Given the description of an element on the screen output the (x, y) to click on. 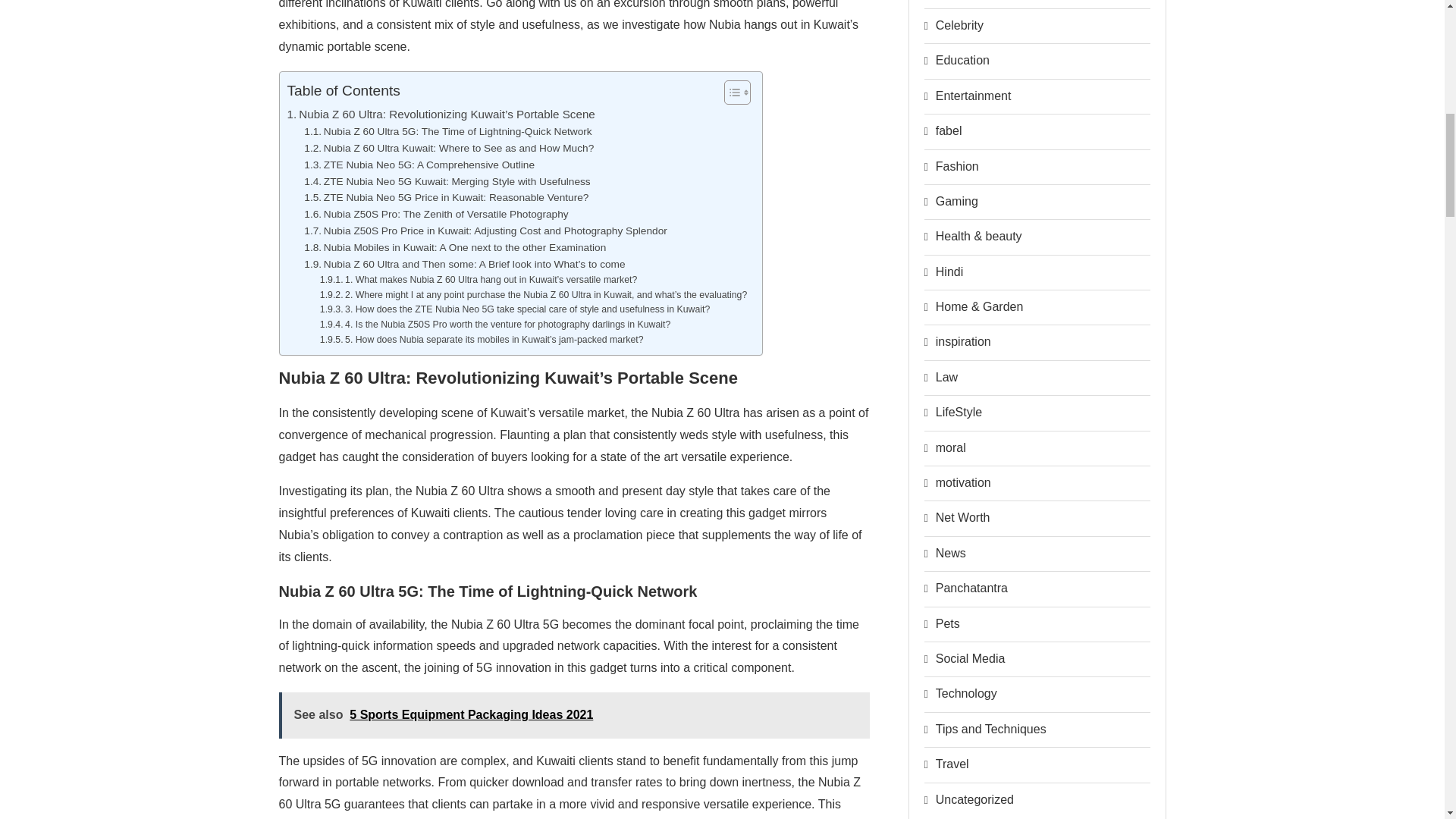
Nubia Z50S Pro: The Zenith of Versatile Photography (435, 214)
ZTE Nubia Neo 5G Price in Kuwait: Reasonable Venture? (446, 197)
Nubia Mobiles in Kuwait: A One next to the other Examination (454, 247)
Nubia Z 60 Ultra Kuwait: Where to See as and How Much? (449, 148)
ZTE Nubia Neo 5G: A Comprehensive Outline (419, 165)
ZTE Nubia Neo 5G Kuwait: Merging Style with Usefulness (446, 181)
Nubia Z 60 Ultra 5G: The Time of Lightning-Quick Network (447, 131)
Nubia Z 60 Ultra 5G: The Time of Lightning-Quick Network (447, 131)
ZTE Nubia Neo 5G Kuwait: Merging Style with Usefulness (446, 181)
ZTE Nubia Neo 5G Price in Kuwait: Reasonable Venture? (446, 197)
ZTE Nubia Neo 5G: A Comprehensive Outline (419, 165)
Nubia Z 60 Ultra Kuwait: Where to See as and How Much? (449, 148)
